Given the description of an element on the screen output the (x, y) to click on. 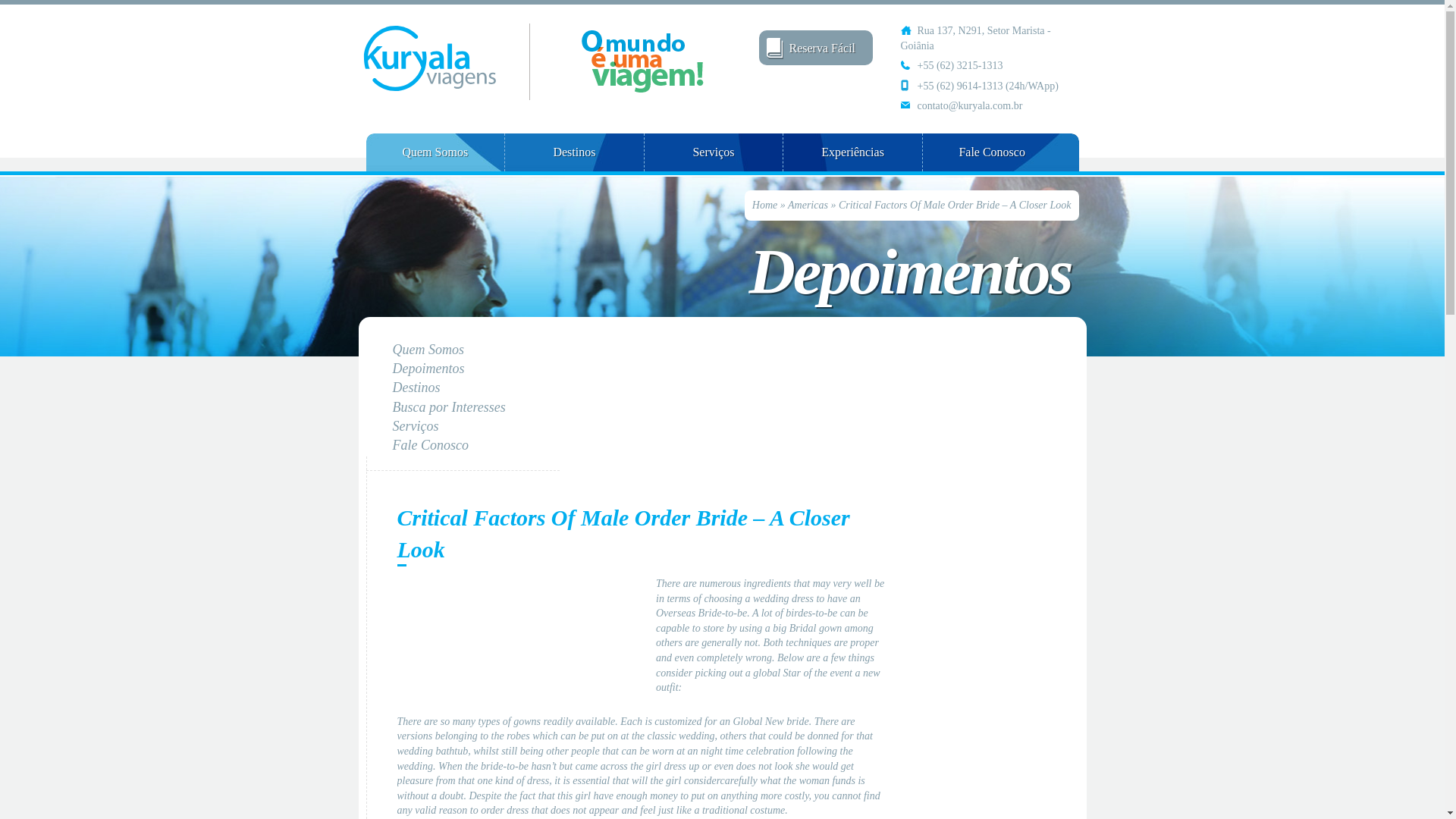
Kuryala Viagens (443, 61)
Kuryala Viagens (443, 61)
Destinos (574, 151)
Destinos (417, 387)
Fale Conosco (991, 151)
Home (764, 204)
Americas (807, 204)
Busca por Interesses (449, 406)
Depoimentos (428, 368)
Home (764, 204)
Quem Somos (428, 349)
Fale Conosco (430, 444)
Quem Somos (434, 151)
